Given the description of an element on the screen output the (x, y) to click on. 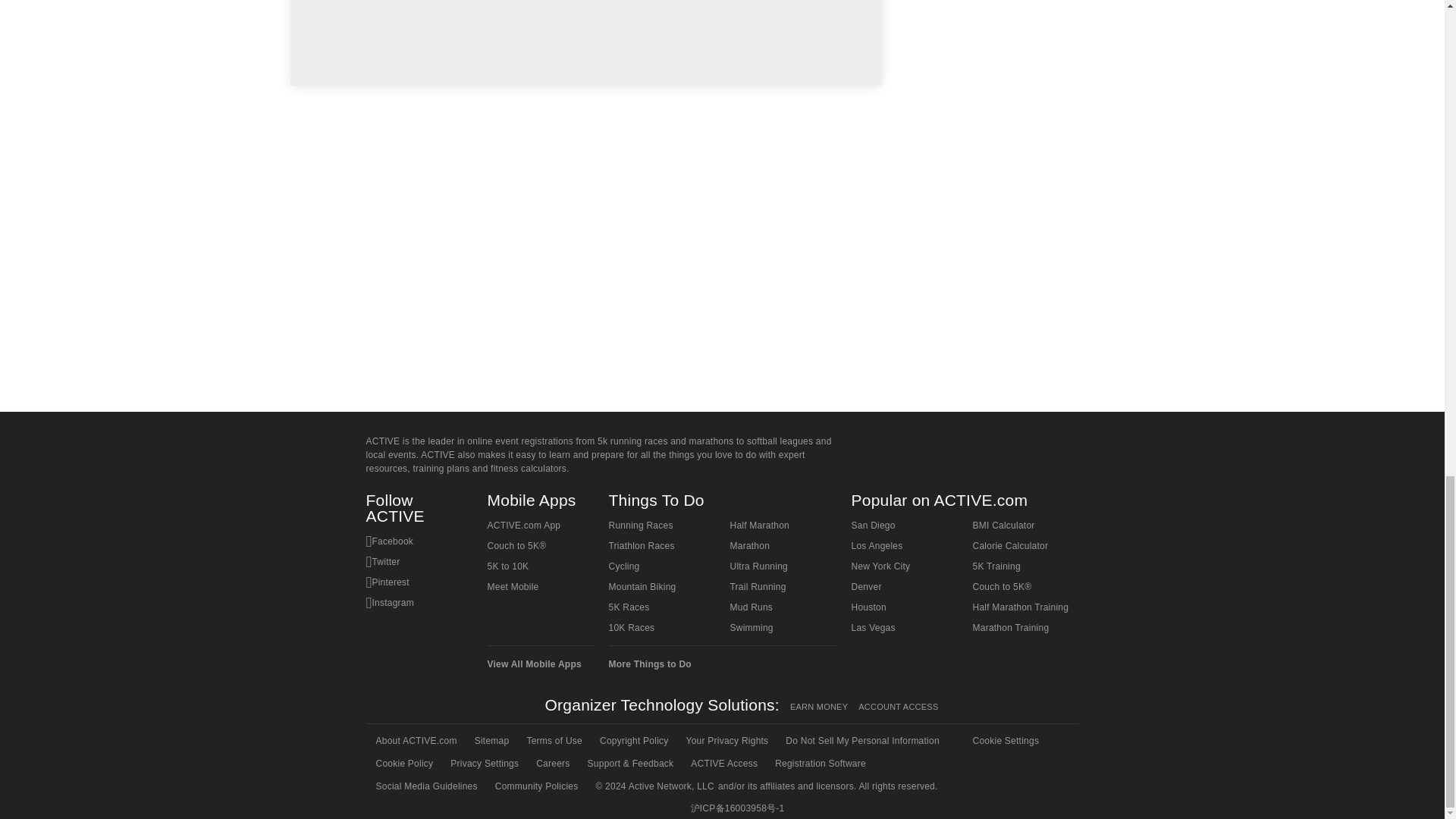
Cookie Policy (403, 763)
Copyright Policy (633, 740)
Privacy Settings (483, 763)
Terms of Use (552, 740)
Careers at Active (550, 763)
Do Not Sell My Personal Information (861, 740)
Your Privacy Rights: Updated (726, 740)
